Given the description of an element on the screen output the (x, y) to click on. 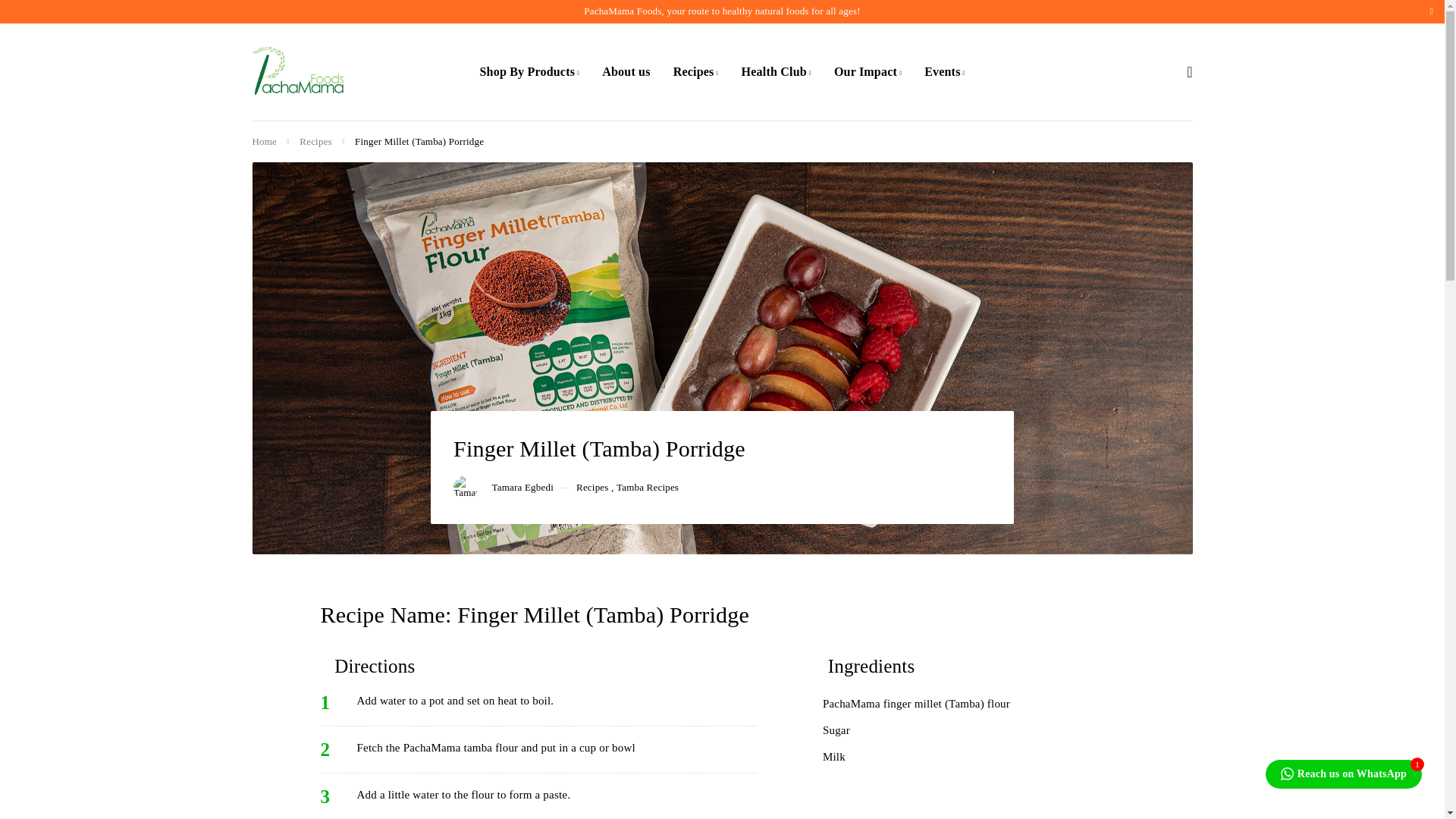
Tamba Recipes (646, 487)
Tamara Egbedi (522, 487)
Health Club (775, 71)
Our Impact (867, 71)
About us (625, 71)
Recipes (592, 487)
Events (944, 71)
Recipes (695, 71)
Pachamama Foods (296, 71)
Home (263, 141)
Posts by Tamara Egbedi (522, 487)
Shop By Products (529, 71)
Recipes (315, 141)
